Given the description of an element on the screen output the (x, y) to click on. 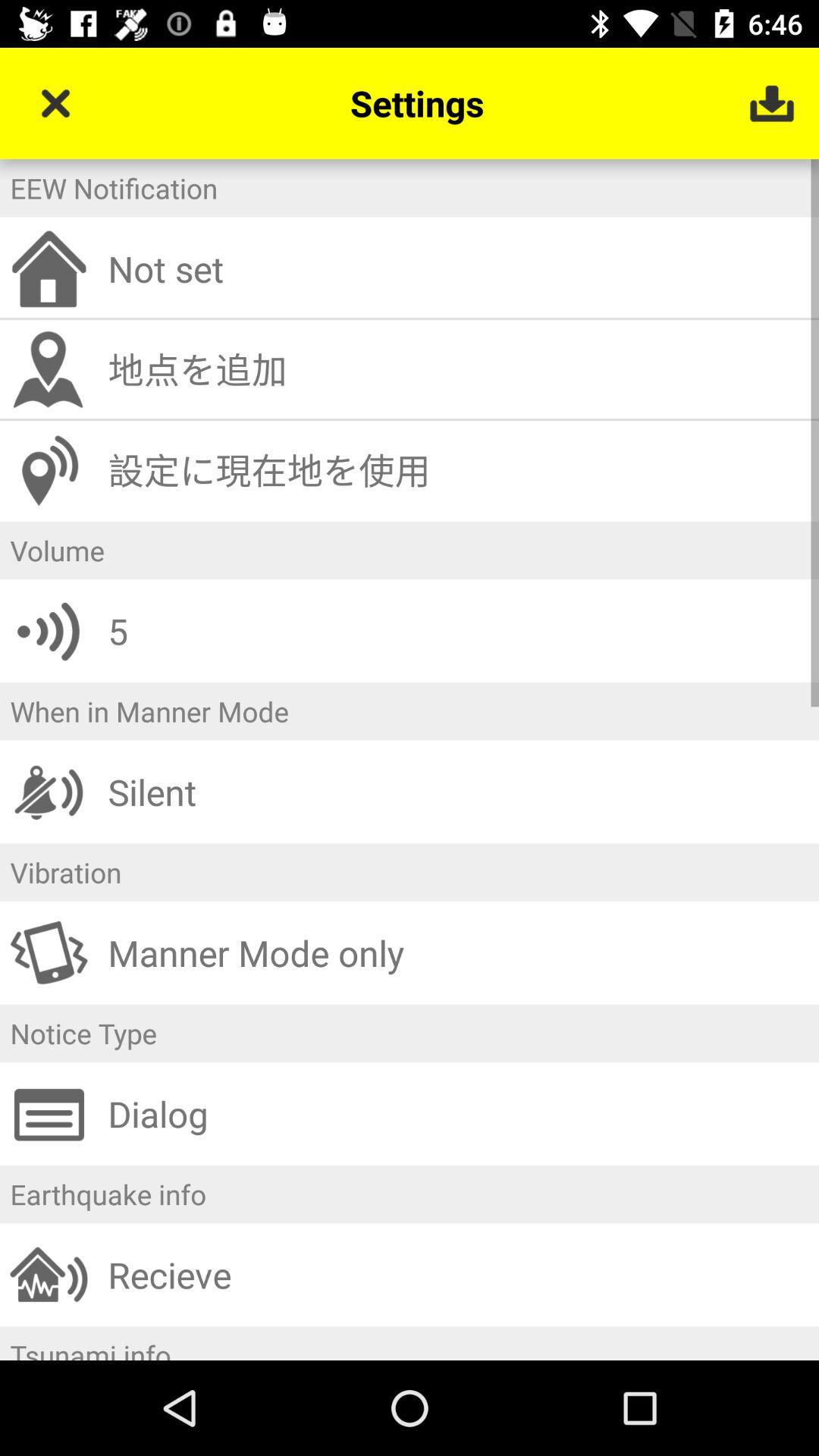
choose the item next to settings icon (55, 103)
